Given the description of an element on the screen output the (x, y) to click on. 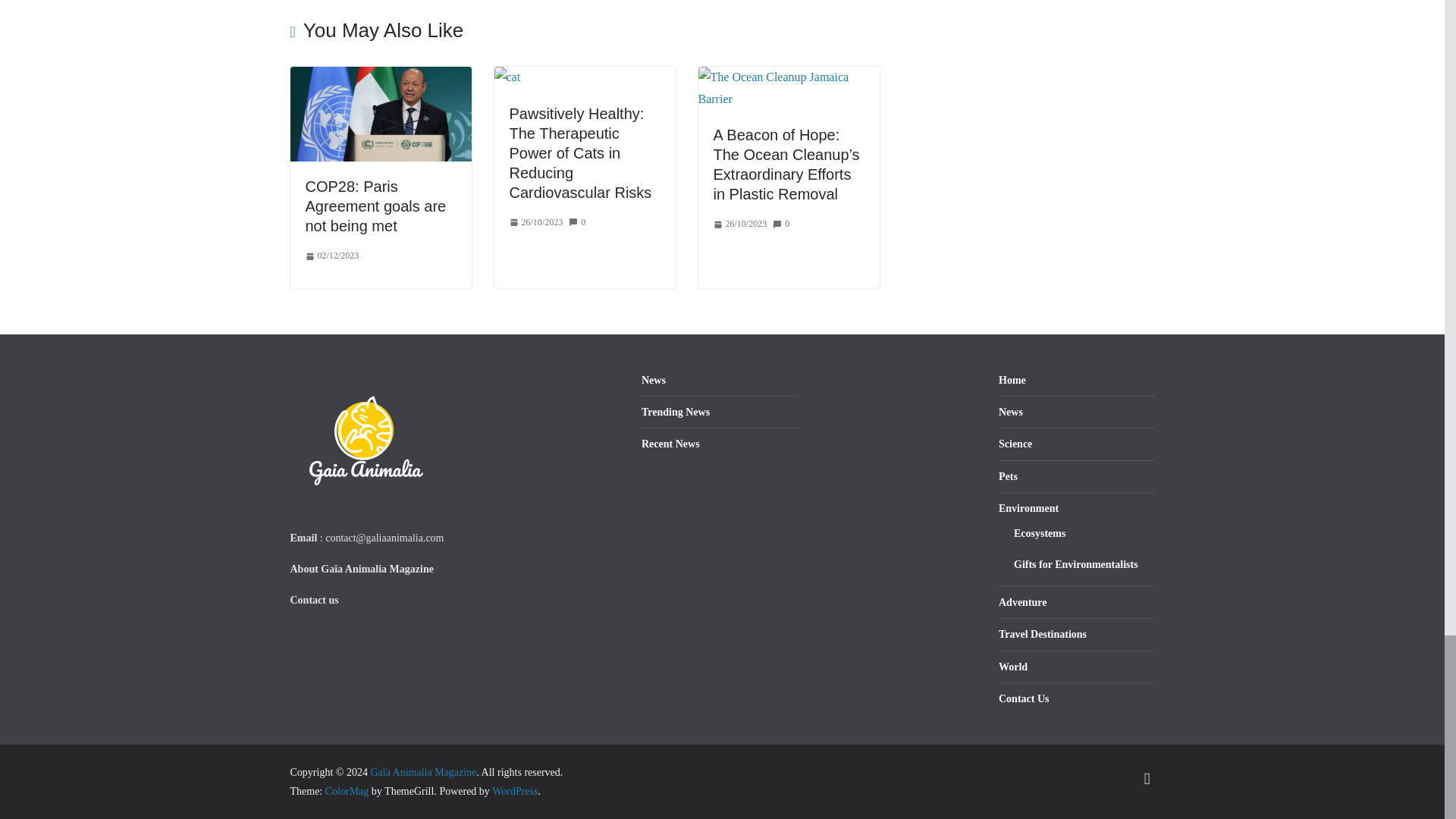
COP28: Paris Agreement goals are not being met (374, 206)
COP28: Paris Agreement goals are not being met (379, 76)
3h31 (331, 256)
COP28: Paris Agreement goals are not being met (374, 206)
0 (786, 224)
0 (582, 222)
